Given the description of an element on the screen output the (x, y) to click on. 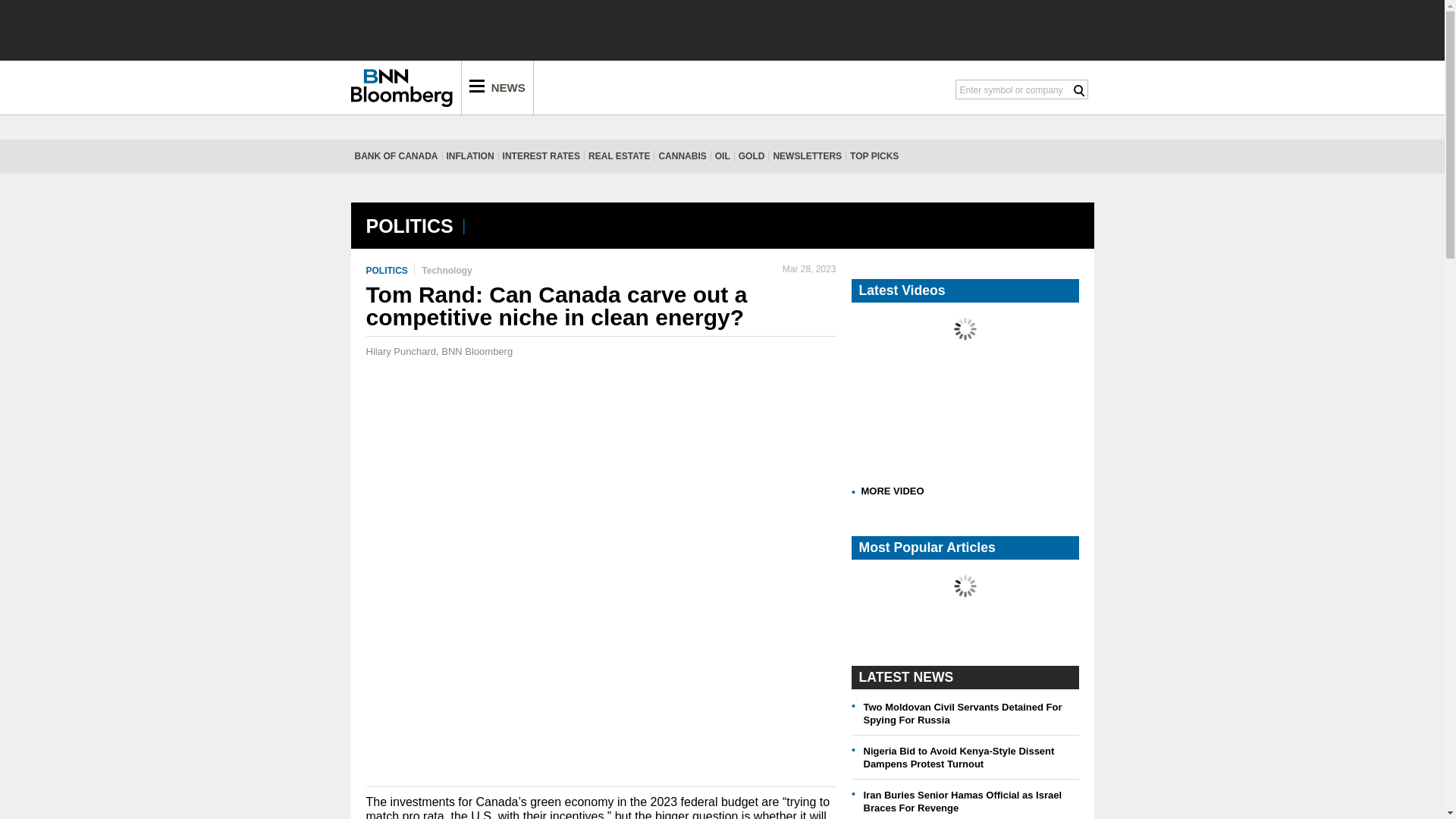
Search (1079, 91)
Enter symbol or company (1014, 88)
NEWS (496, 87)
Enter symbol or company (1014, 88)
Search (1079, 91)
Search (1079, 91)
